Given the description of an element on the screen output the (x, y) to click on. 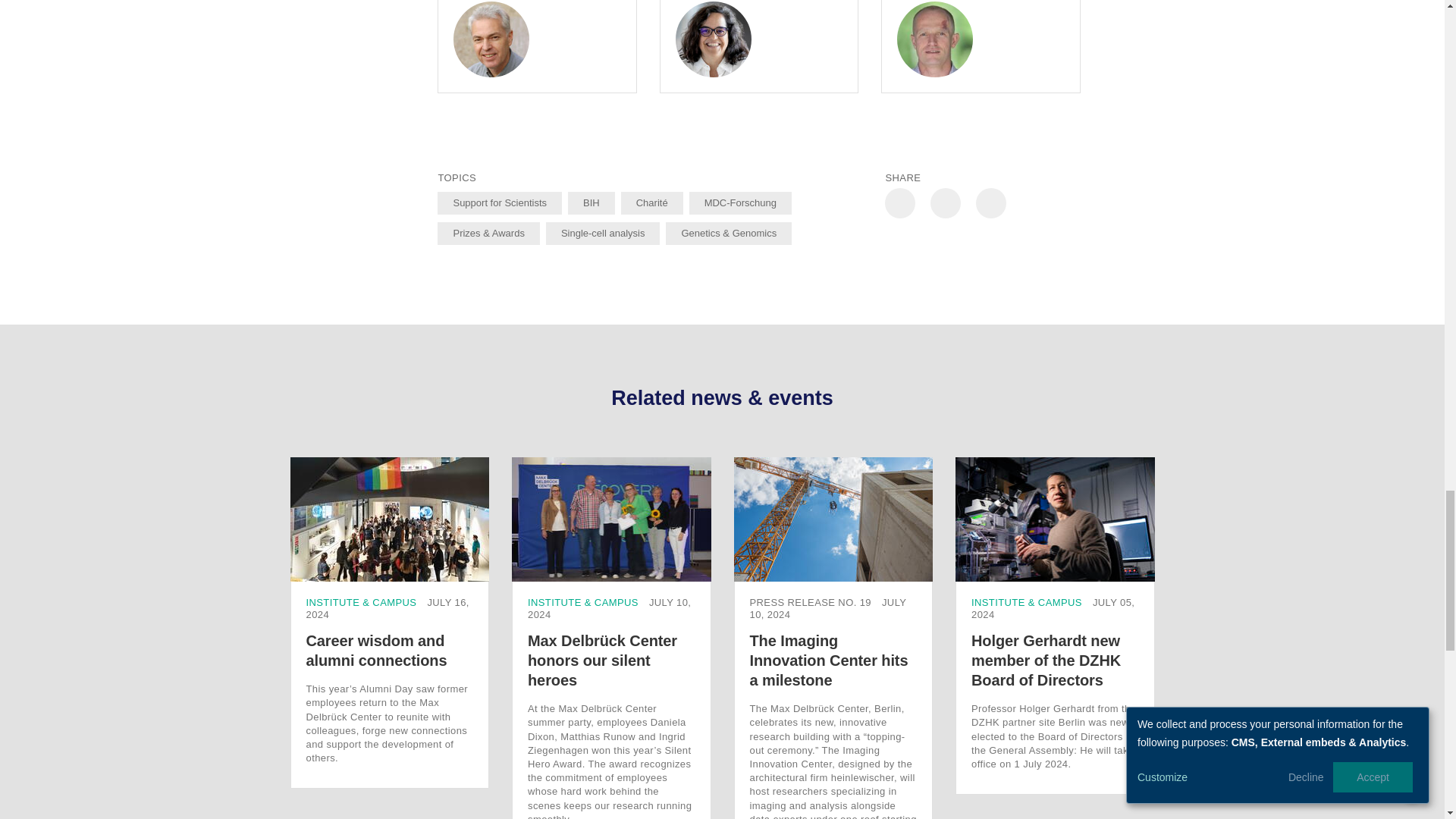
Share via Email (990, 203)
Prof. Dr. Helmut Kettenmann (490, 38)
Share via X (900, 203)
Prof. Dr. Ana Pombo (713, 38)
Share via Facebook (945, 203)
Prof. Dr. Markus Landthaler (934, 38)
